Given the description of an element on the screen output the (x, y) to click on. 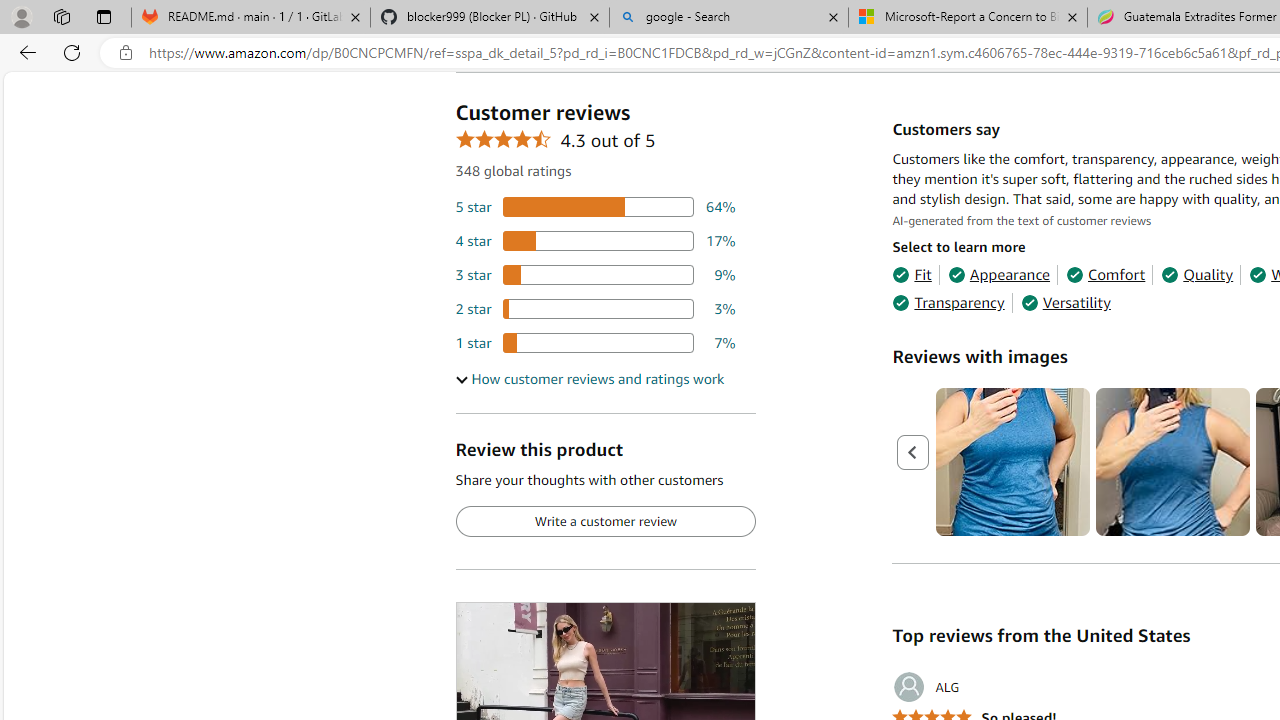
7 percent of reviews have 1 stars (595, 343)
9 percent of reviews have 3 stars (595, 274)
Fit (911, 274)
Class: a-carousel-card (1173, 462)
17 percent of reviews have 4 stars (595, 241)
ALG (926, 687)
64 percent of reviews have 5 stars (595, 207)
Transparency (948, 303)
Versatility (1065, 303)
Customer Image (1172, 462)
